Given the description of an element on the screen output the (x, y) to click on. 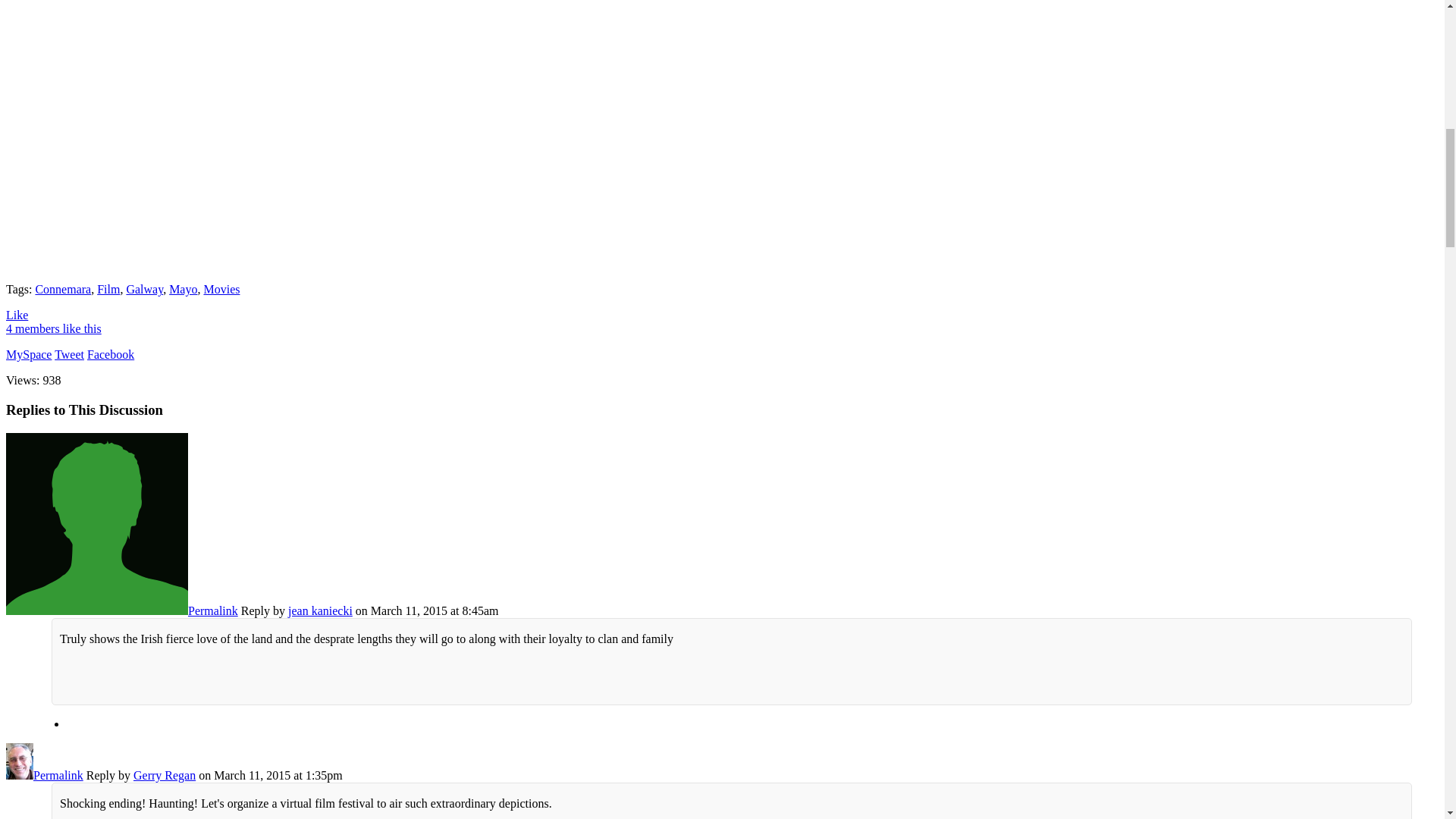
Permalink to this Reply (57, 775)
Permalink to this Reply (212, 610)
Gerry Regan (19, 775)
jean kaniecki (96, 610)
